Given the description of an element on the screen output the (x, y) to click on. 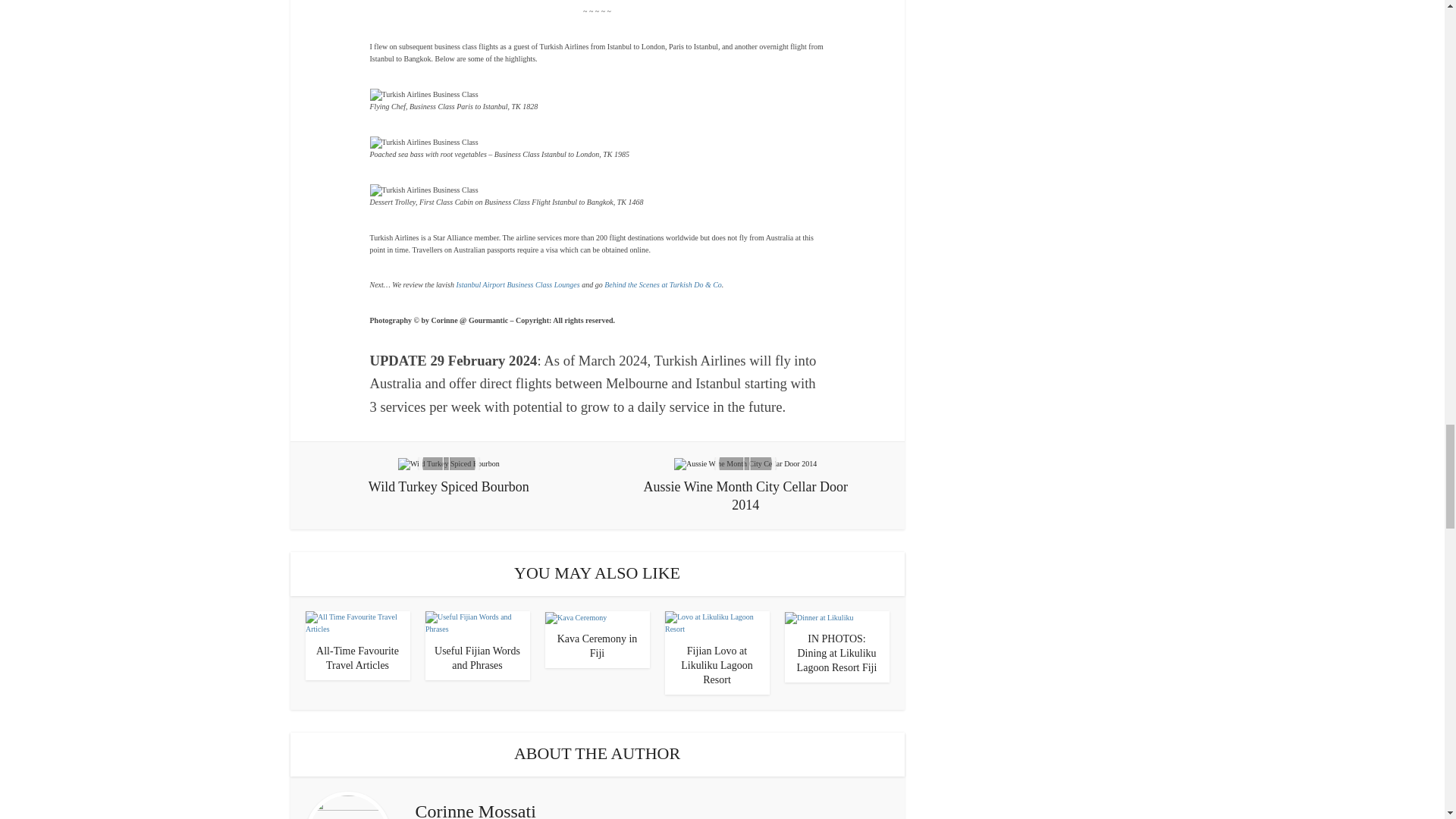
Useful Fijian Words and Phrases (476, 657)
All-Time Favourite Travel Articles (356, 657)
All-Time Favourite Travel Articles (356, 623)
Kava Ceremony in Fiji (574, 616)
Useful Fijian Words and Phrases (477, 623)
